Given the description of an element on the screen output the (x, y) to click on. 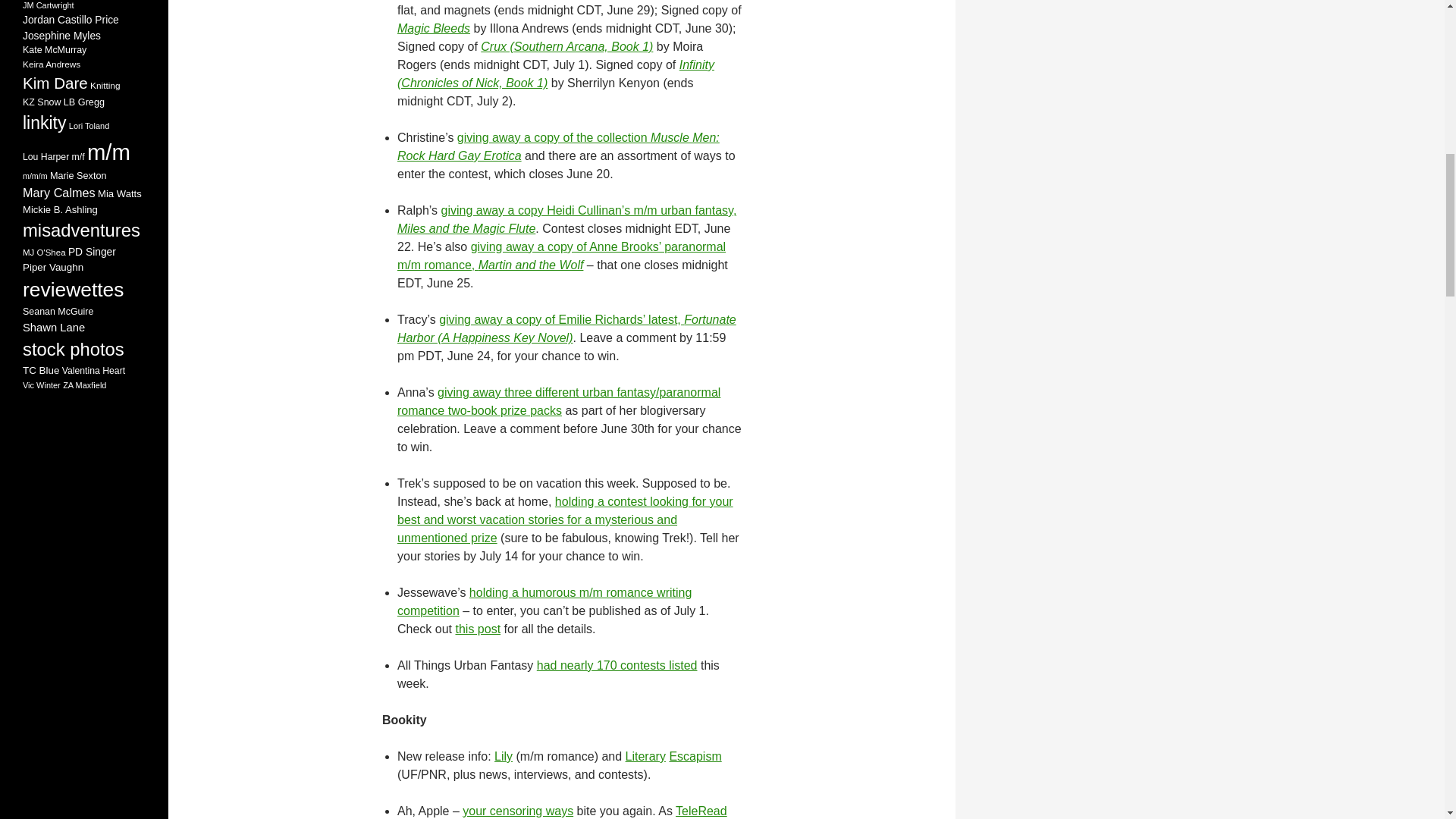
Literary (645, 756)
TeleRead suggests (561, 811)
this post (477, 628)
Magic Bleeds (433, 28)
Escapism (694, 756)
Lily (503, 756)
had nearly 170 contests listed (617, 665)
your censoring ways (518, 810)
